Given the description of an element on the screen output the (x, y) to click on. 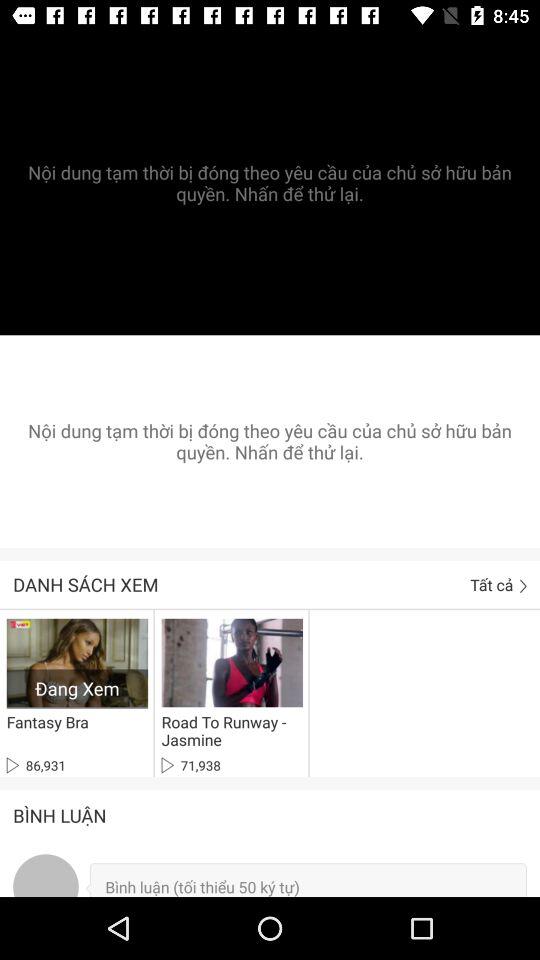
jump until 71,938 icon (190, 765)
